Given the description of an element on the screen output the (x, y) to click on. 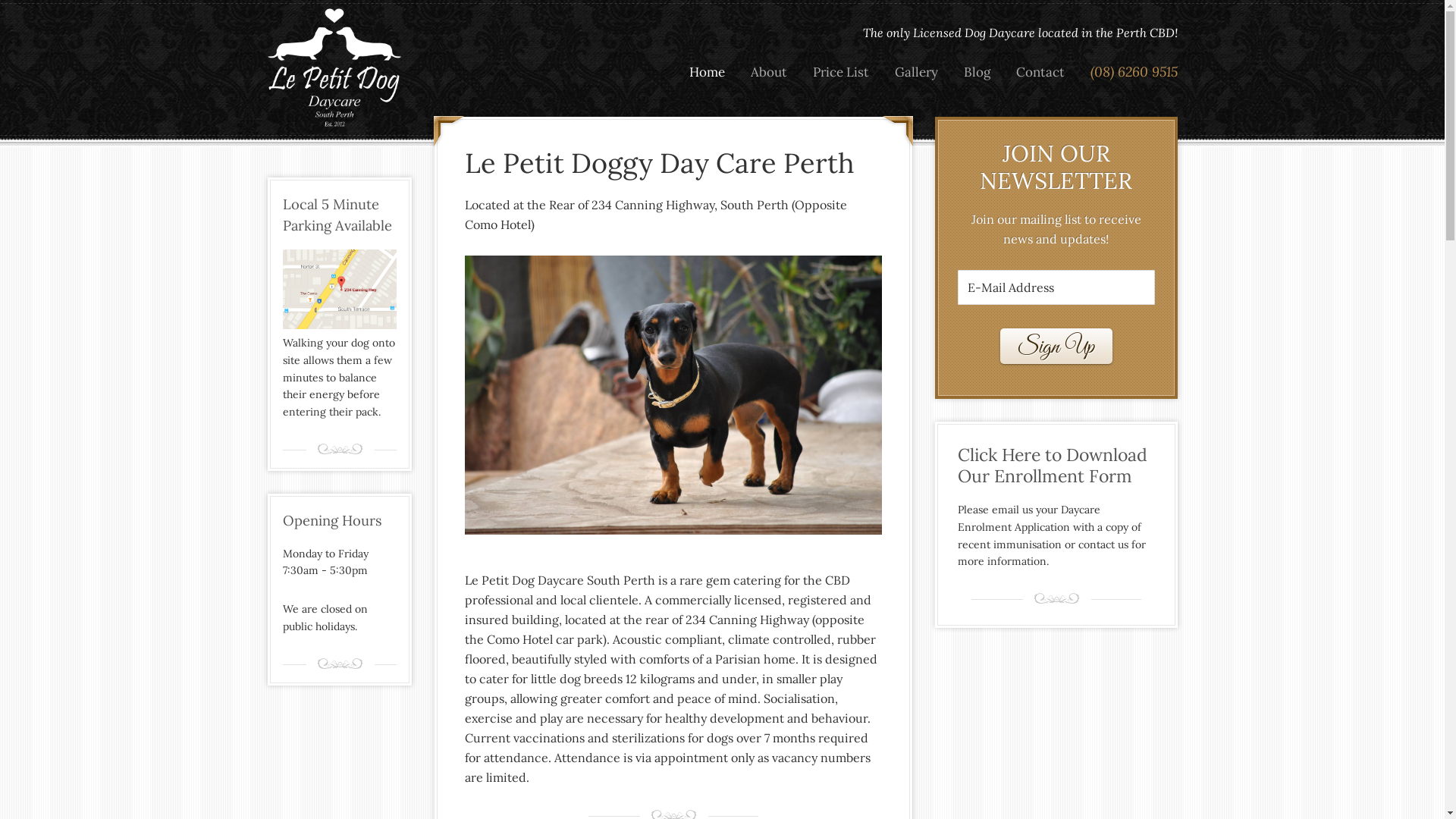
Price List Element type: text (839, 72)
Skip to primary navigation Element type: text (0, 0)
Blog Element type: text (976, 72)
Click Here to Download Our Enrollment Form Element type: text (1055, 465)
(08) 6260 9515 Element type: text (1127, 71)
Le Petit Dog Element type: text (334, 67)
Sign Up Element type: text (1055, 346)
Gallery Element type: text (915, 72)
Home Element type: text (706, 72)
About Element type: text (767, 72)
Contact Element type: text (1039, 72)
